Given the description of an element on the screen output the (x, y) to click on. 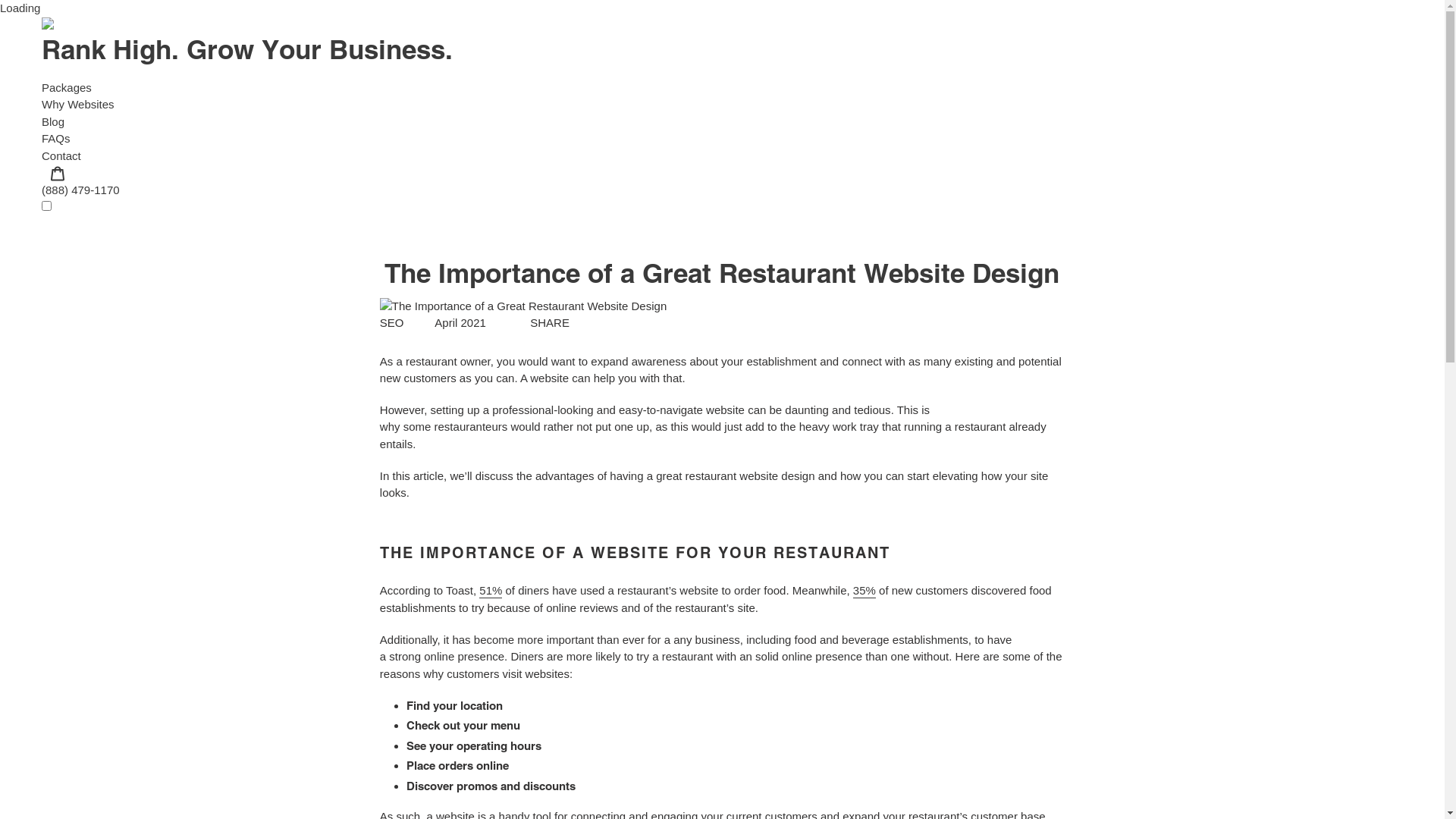
Blog Element type: text (52, 121)
(888) 479-1170 Element type: text (80, 189)
Why Websites Element type: text (77, 103)
Cart Element type: text (57, 172)
35% Element type: text (864, 590)
51% Element type: text (490, 590)
Packages Element type: text (66, 86)
on Element type: text (46, 205)
Contact Element type: text (61, 154)
FAQs Element type: text (55, 137)
